Given the description of an element on the screen output the (x, y) to click on. 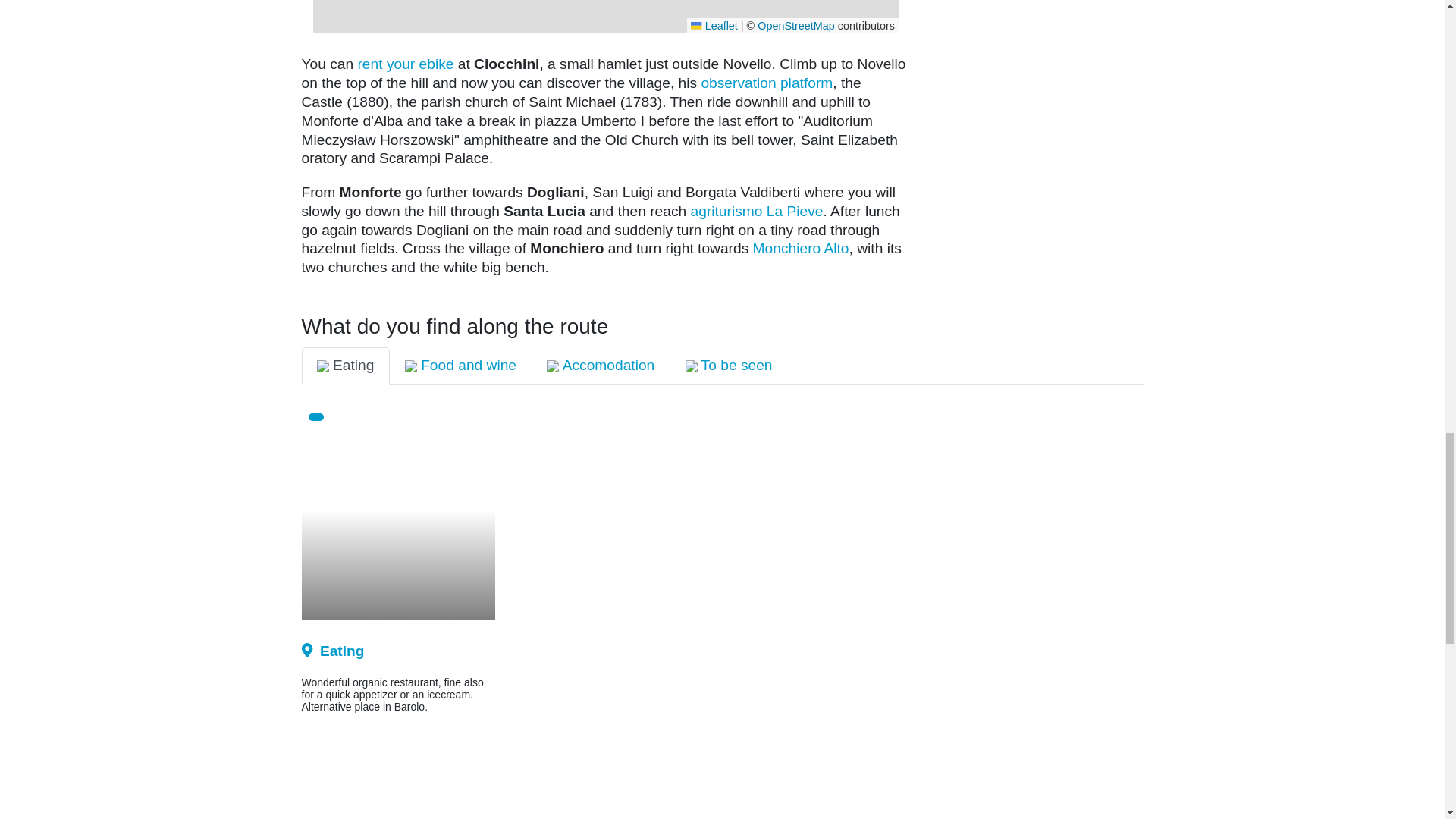
Vai alla destinazione (349, 418)
Agriturismo La Pieve (757, 211)
Novello Observation Platform (766, 83)
ebike Rental Novello Langhe (404, 64)
Monchiero Alto (800, 248)
A JavaScript library for interactive maps (714, 25)
